Given the description of an element on the screen output the (x, y) to click on. 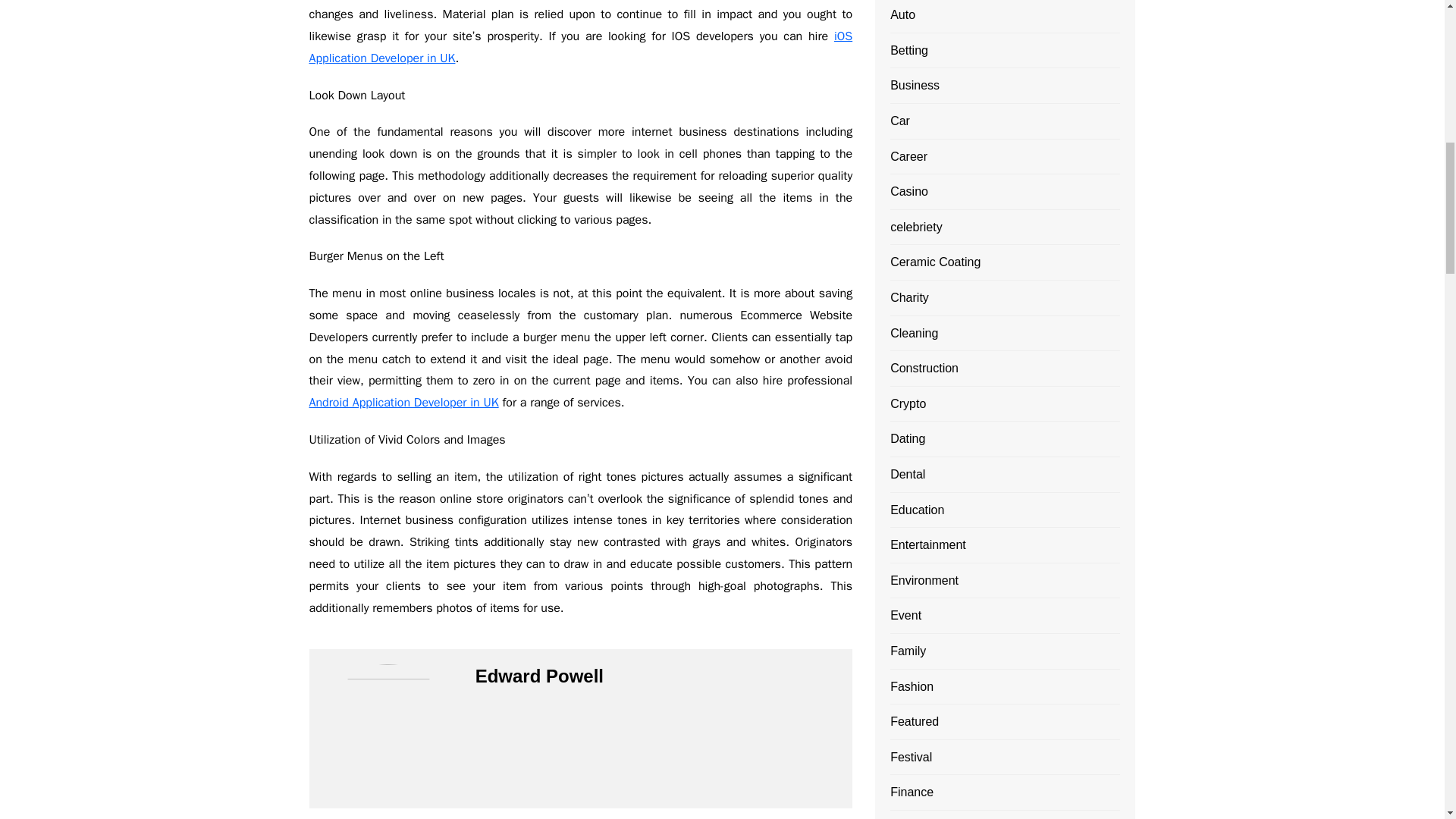
Android Application Developer in UK (403, 402)
iOS Application Developer in UK (580, 47)
